Given the description of an element on the screen output the (x, y) to click on. 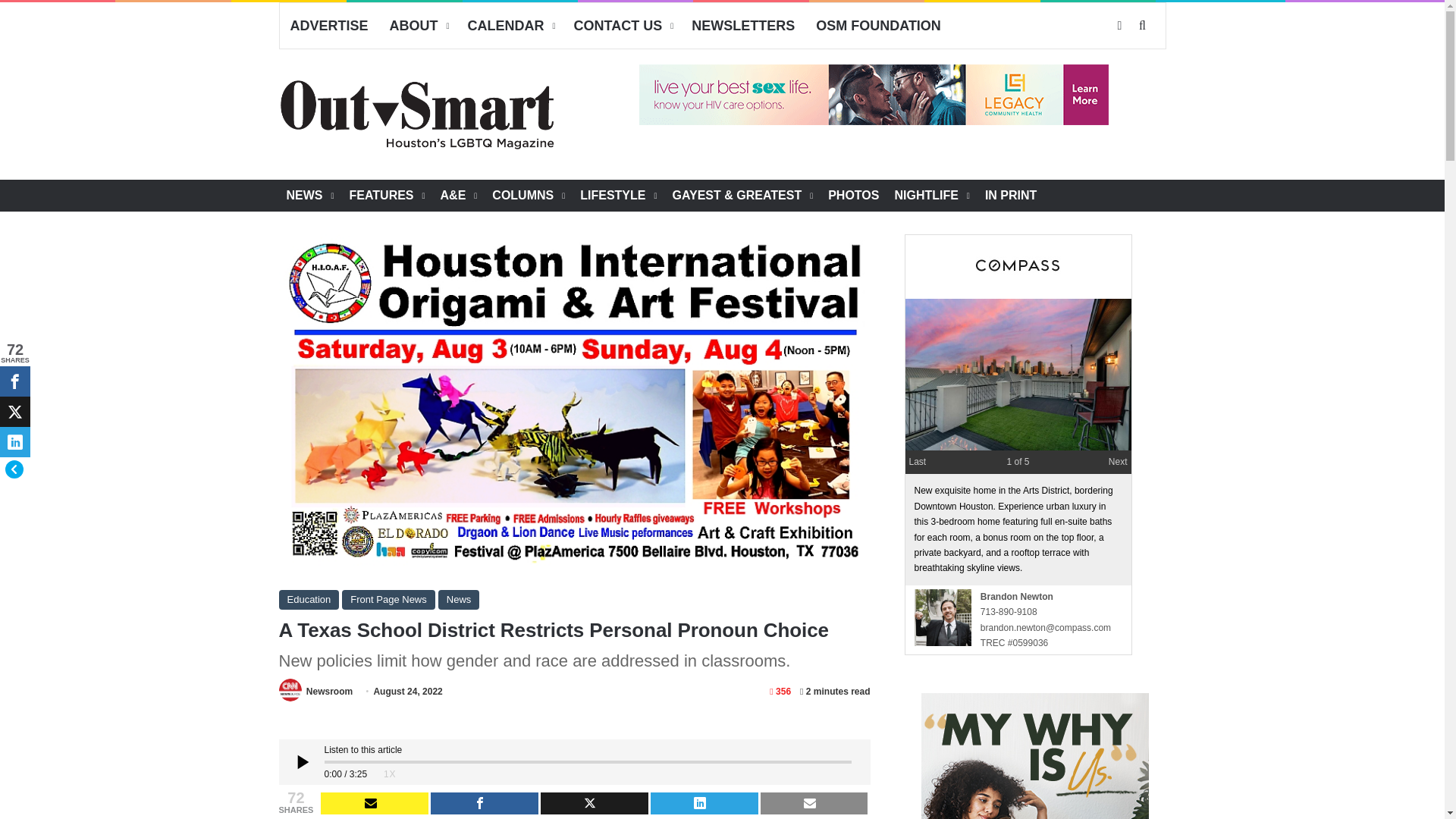
FEATURES (386, 195)
ABOUT (417, 25)
OutSmart Magazine (419, 114)
CONTACT US (622, 25)
Newsroom (328, 691)
OSM FOUNDATION (878, 25)
Legacy RW Health Sex HIV (873, 94)
ADVERTISE (328, 25)
Lone Star College North 300x600 July (1034, 755)
NEWSLETTERS (743, 25)
pause (301, 761)
speedRate (389, 773)
CALENDAR (510, 25)
NEWS (310, 195)
